Given the description of an element on the screen output the (x, y) to click on. 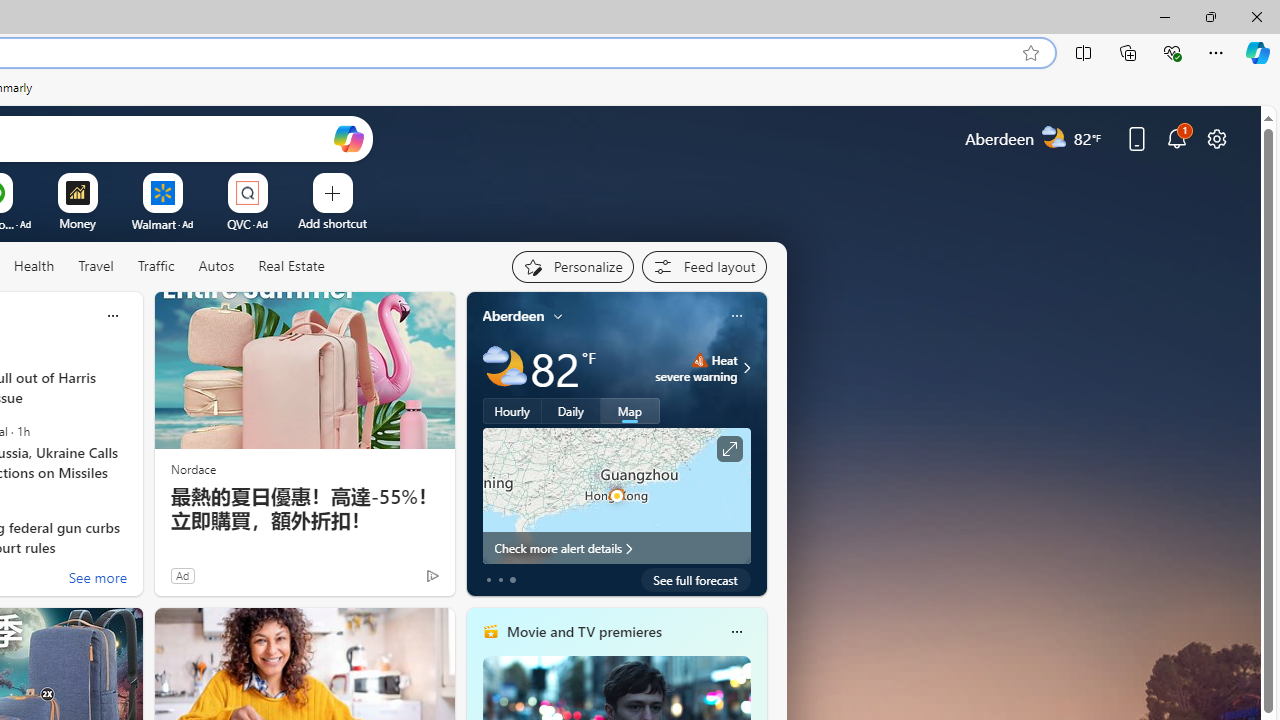
You're following The Weather Channel (390, 579)
Map (630, 411)
Add a site (332, 223)
tab-2 (511, 579)
Heat - Severe (699, 359)
Daily (571, 411)
Aberdeen (513, 315)
Personalize your feed" (571, 266)
Class: weather-arrow-glyph (746, 367)
